Given the description of an element on the screen output the (x, y) to click on. 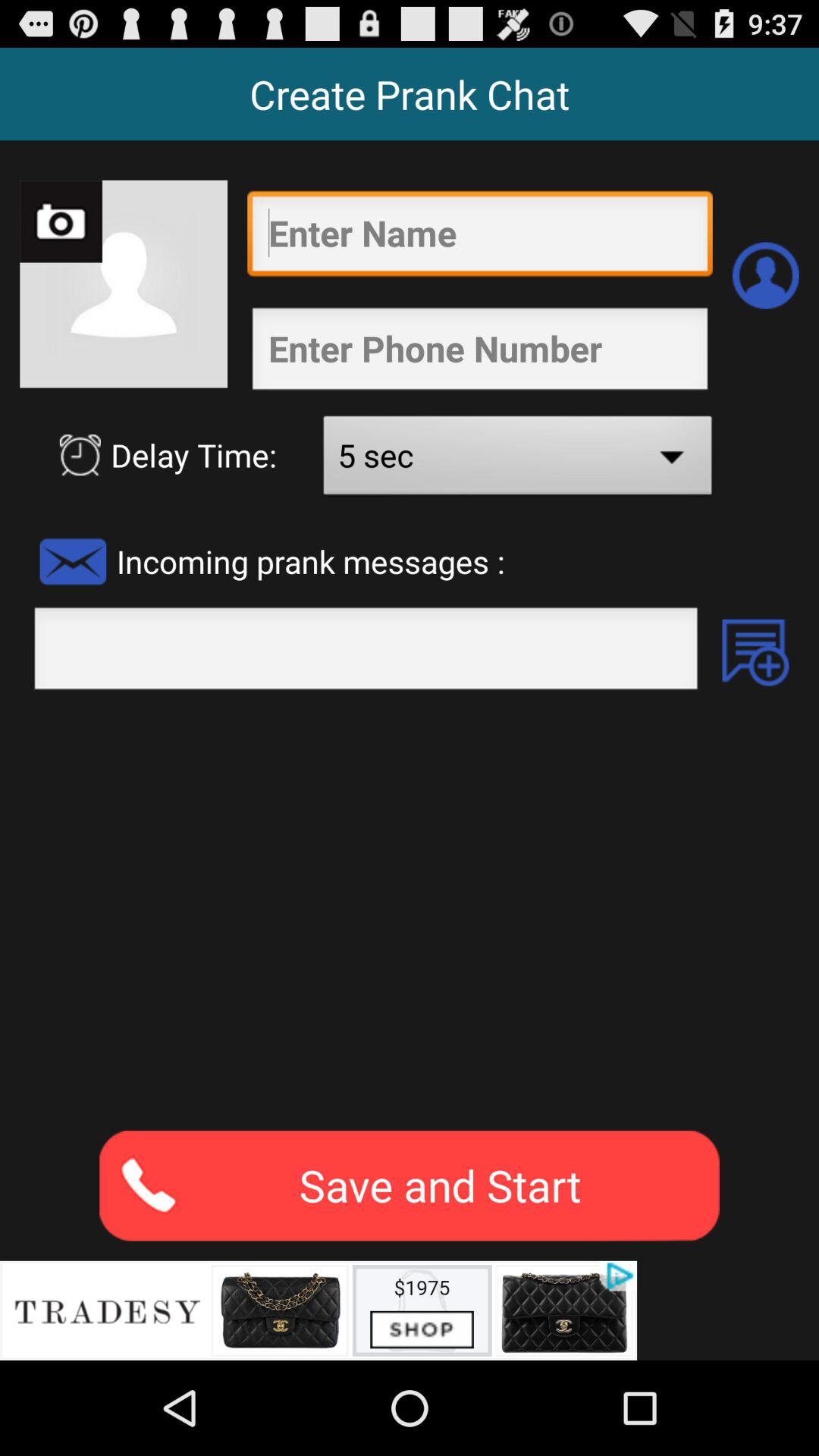
add message (755, 652)
